Given the description of an element on the screen output the (x, y) to click on. 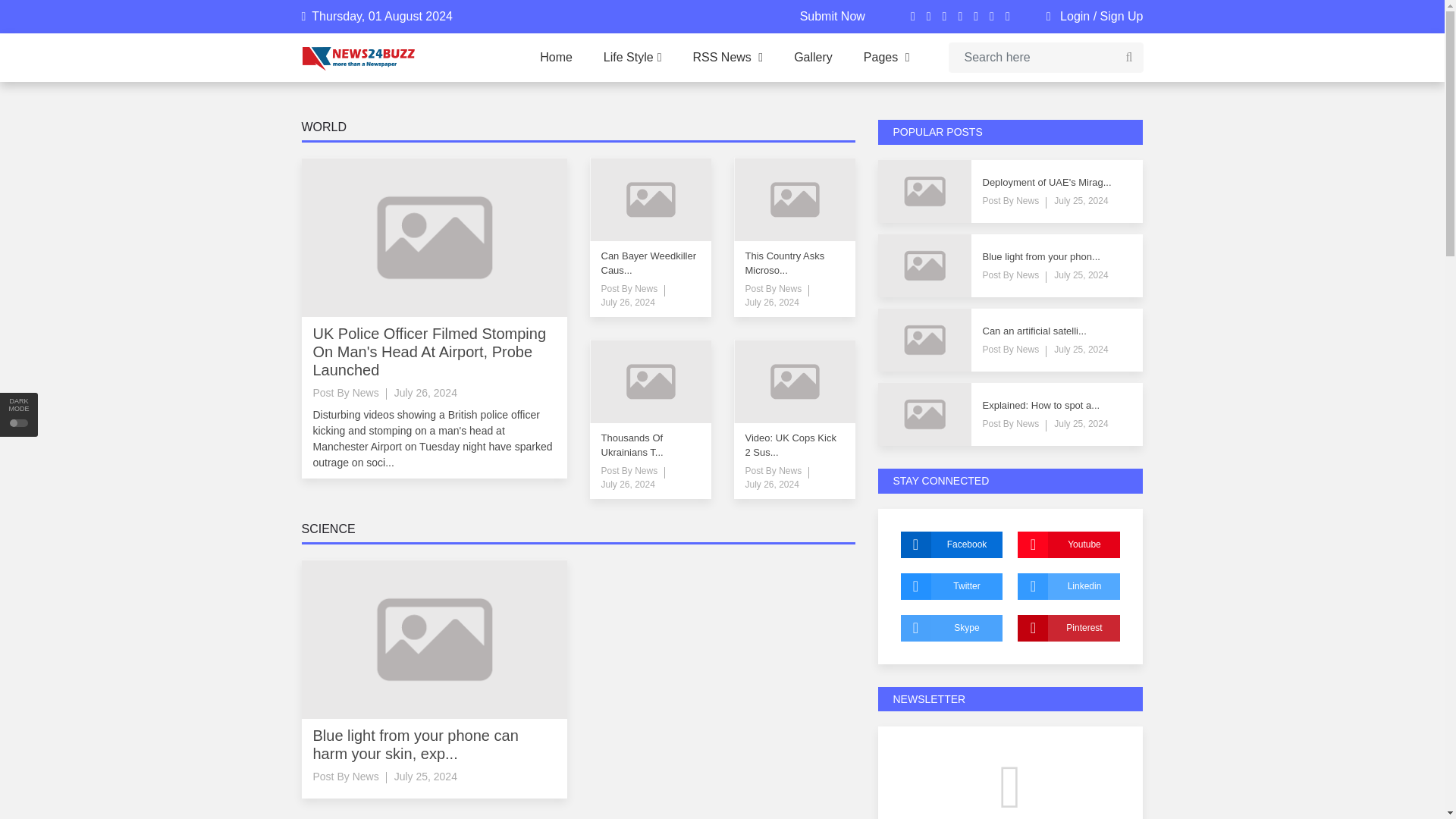
Life Style (632, 57)
Submit Now (831, 15)
RSS News (728, 57)
Home (556, 57)
Login (1074, 15)
Sign Up (1121, 15)
